Given the description of an element on the screen output the (x, y) to click on. 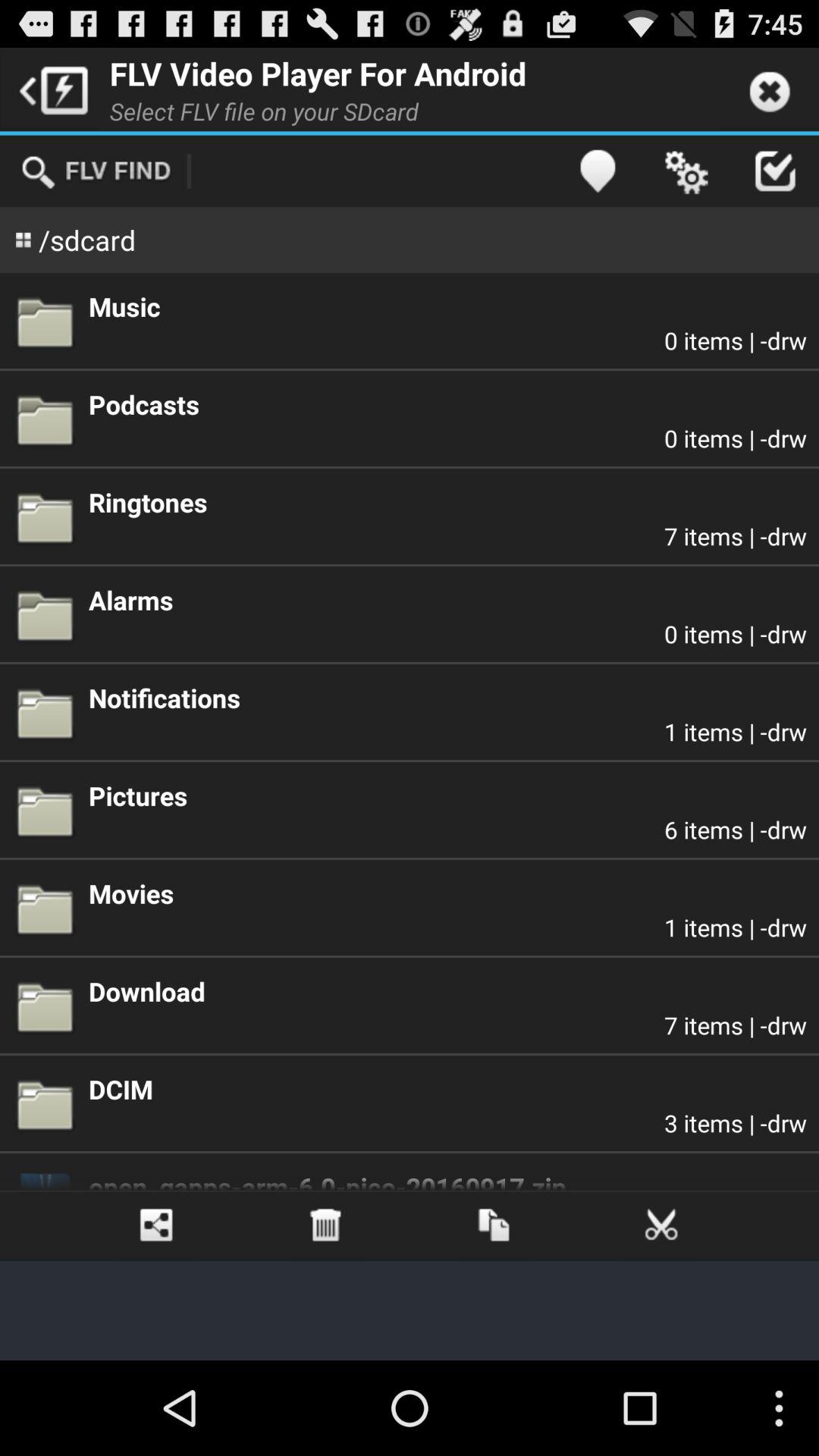
select the item below open_gapps arm 6 item (493, 1225)
